Given the description of an element on the screen output the (x, y) to click on. 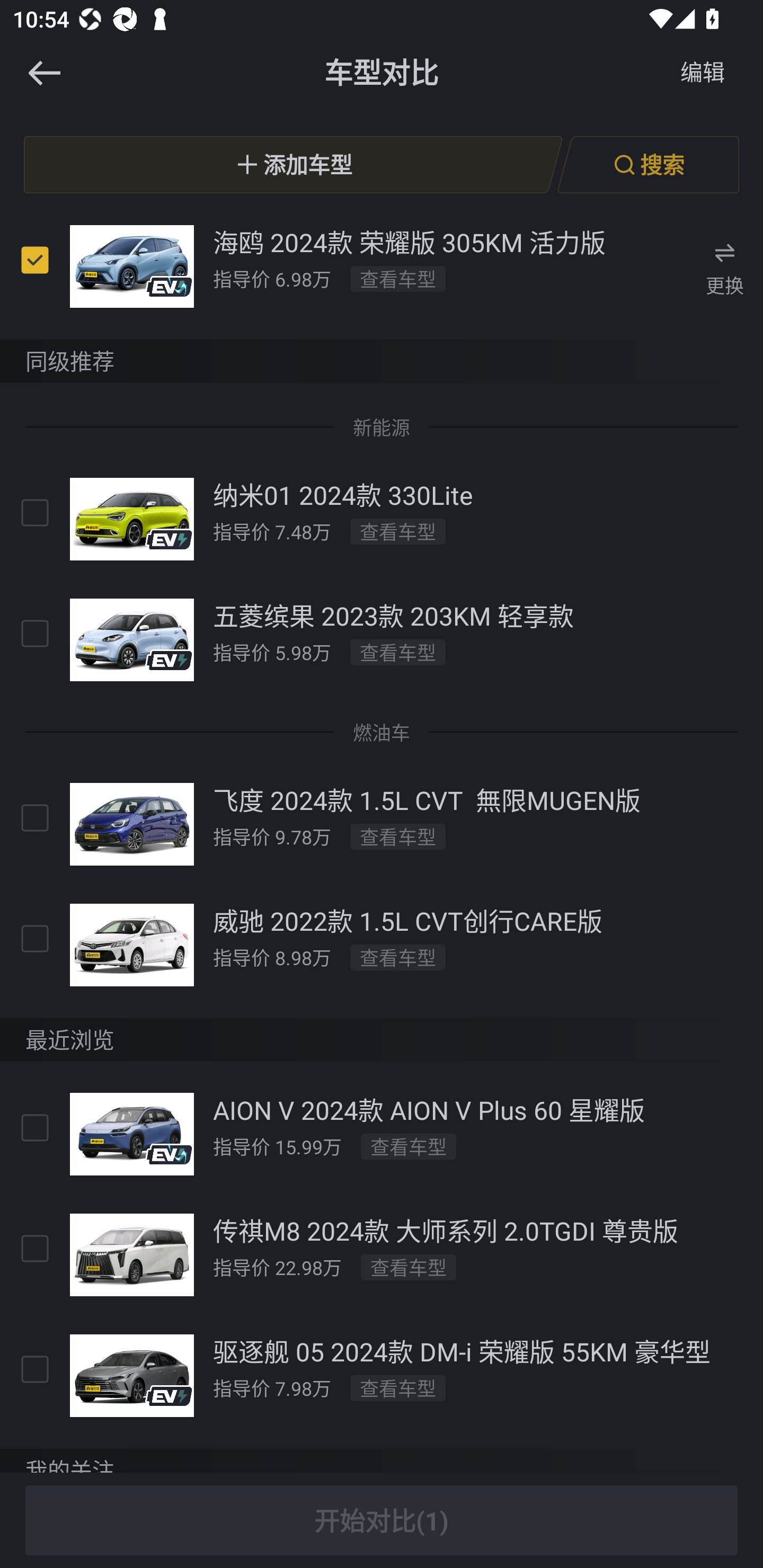
编辑 (702, 72)
 添加车型 (293, 164)
 搜索 (647, 164)
海鸥 2024款 荣耀版 305KM 活力版 指导价 6.98万 查看车型  更换 (381, 265)
 更换 (724, 265)
查看车型 (397, 278)
纳米01 2024款 330Lite 指导价 7.48万 查看车型 (381, 519)
查看车型 (397, 531)
五菱缤果 2023款 203KM 轻享款 指导价 5.98万 查看车型 (381, 640)
查看车型 (397, 651)
飞度 2024款 1.5L CVT  無限MUGEN版 指导价 9.78万 查看车型 (381, 823)
查看车型 (397, 836)
威驰 2022款 1.5L CVT创行CARE版 指导价 8.98万 查看车型 (381, 944)
查看车型 (397, 956)
AION V 2024款 AION V Plus 60 星耀版 指导价 15.99万 查看车型 (381, 1134)
查看车型 (408, 1146)
传祺M8 2024款 大师系列 2.0TGDI 尊贵版 指导价 22.98万 查看车型 (381, 1254)
查看车型 (408, 1267)
驱逐舰 05 2024款 DM-i 荣耀版 55KM 豪华型 指导价 7.98万 查看车型 (381, 1375)
查看车型 (397, 1388)
开始对比(1) (381, 1519)
